Given the description of an element on the screen output the (x, y) to click on. 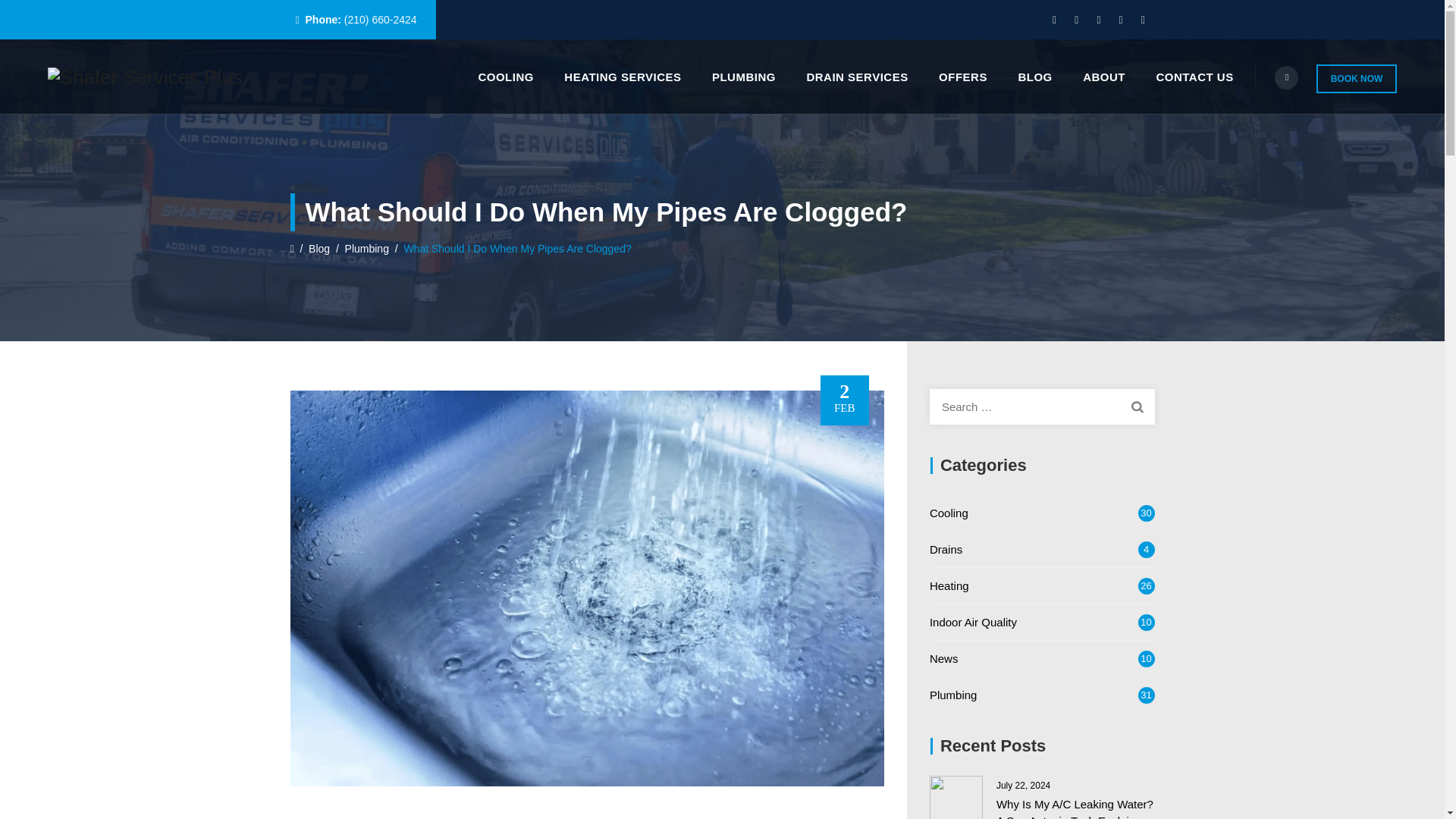
HEATING SERVICES (622, 76)
PLUMBING (743, 76)
Search (1136, 406)
Go to the Plumbing Category archives. (366, 248)
COOLING (505, 76)
Search (1136, 406)
Shafer Services Plus (145, 76)
DRAIN SERVICES (856, 76)
Go to Blog. (319, 248)
OFFERS (962, 76)
BOOK NOW (1356, 78)
